Given the description of an element on the screen output the (x, y) to click on. 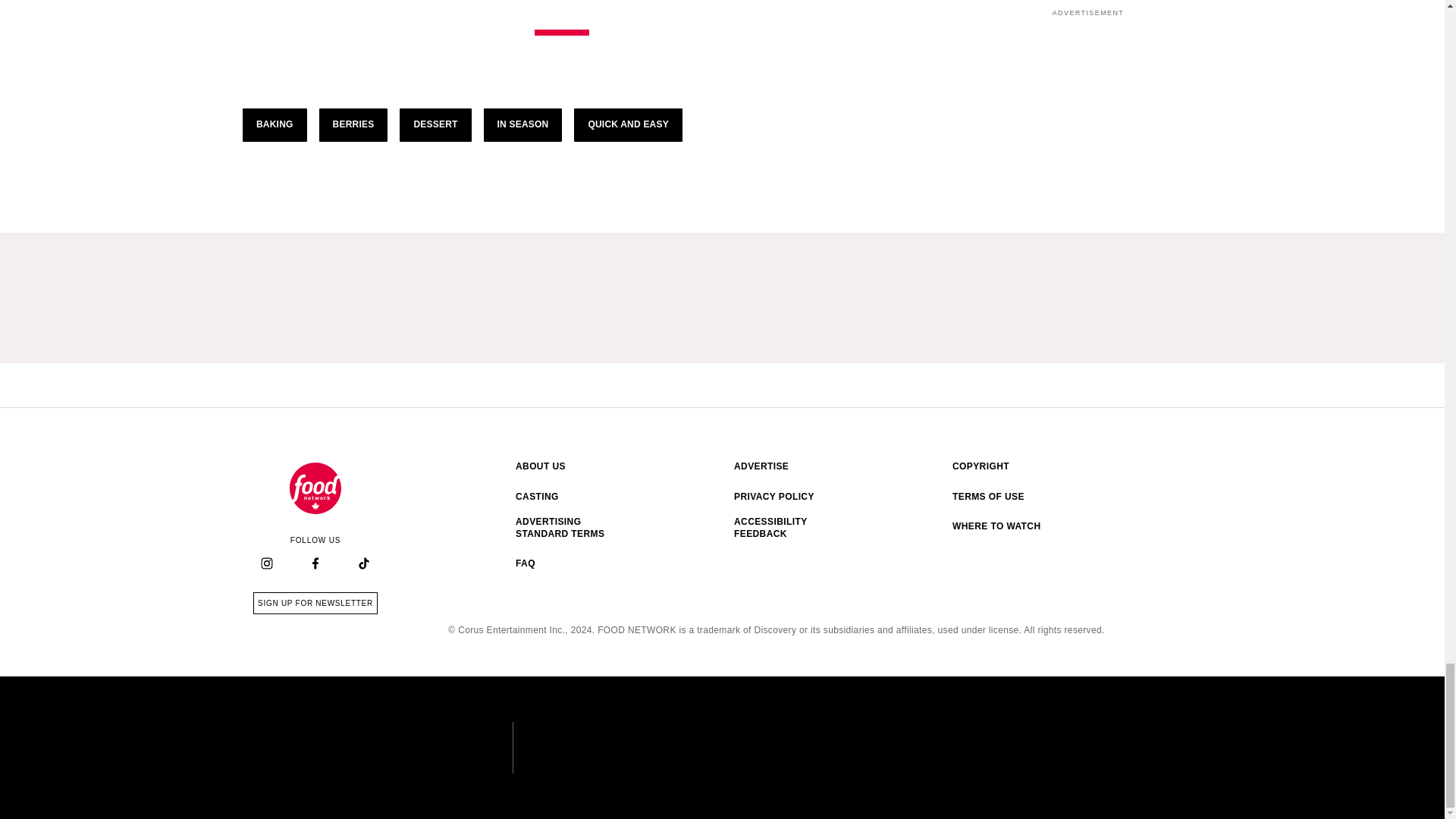
Food Network Canada home (314, 488)
Follow Food Network Canada on Facebook (315, 564)
Follow Food Network Canada on Instagram (267, 564)
Instagram (266, 563)
